Given the description of an element on the screen output the (x, y) to click on. 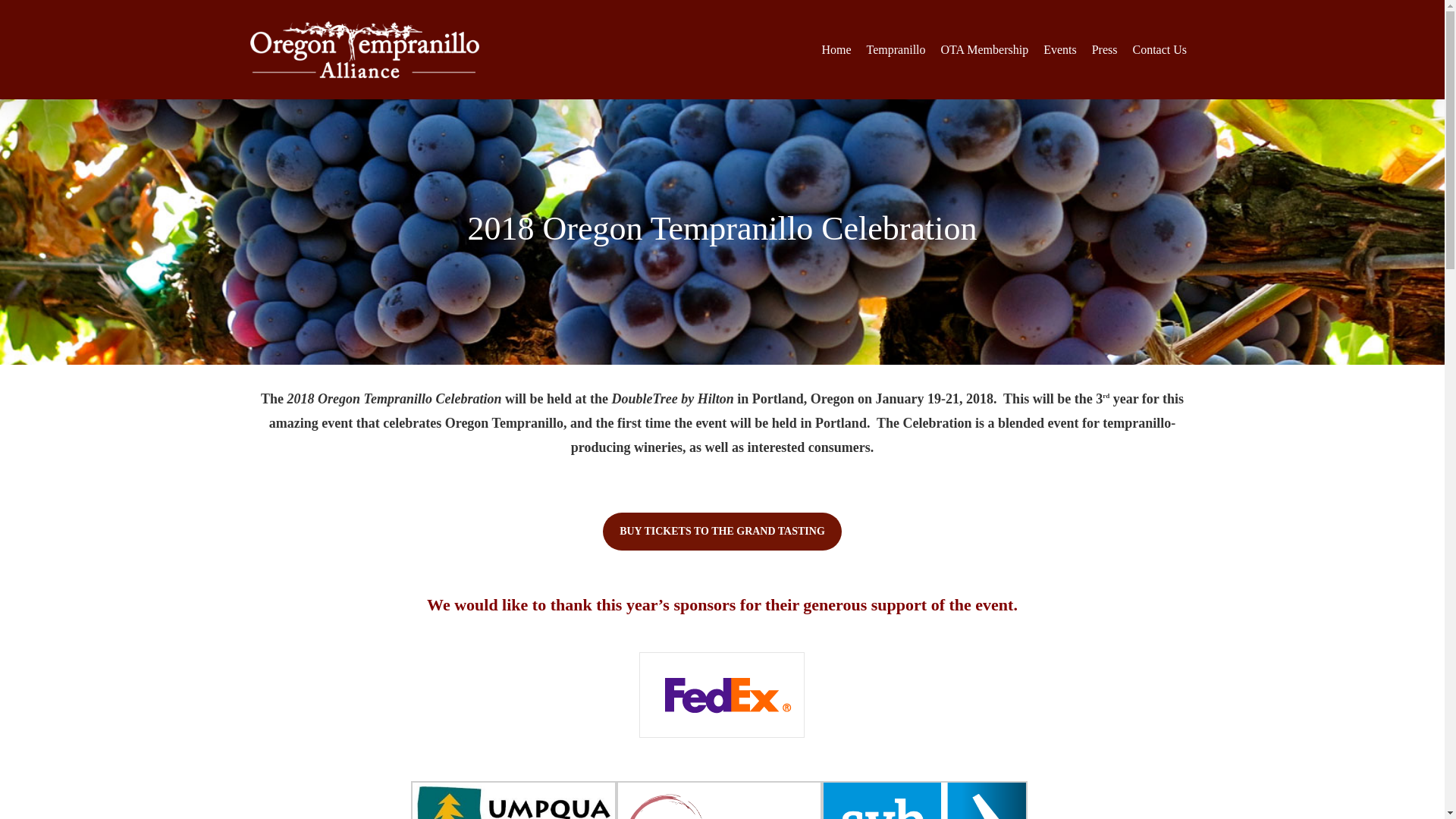
OTA Membership (984, 49)
Press (1104, 49)
BUY TICKETS TO THE GRAND TASTING (721, 531)
Contact Us (1158, 49)
Home (836, 49)
Tempranillo (896, 49)
Events (1059, 49)
